Given the description of an element on the screen output the (x, y) to click on. 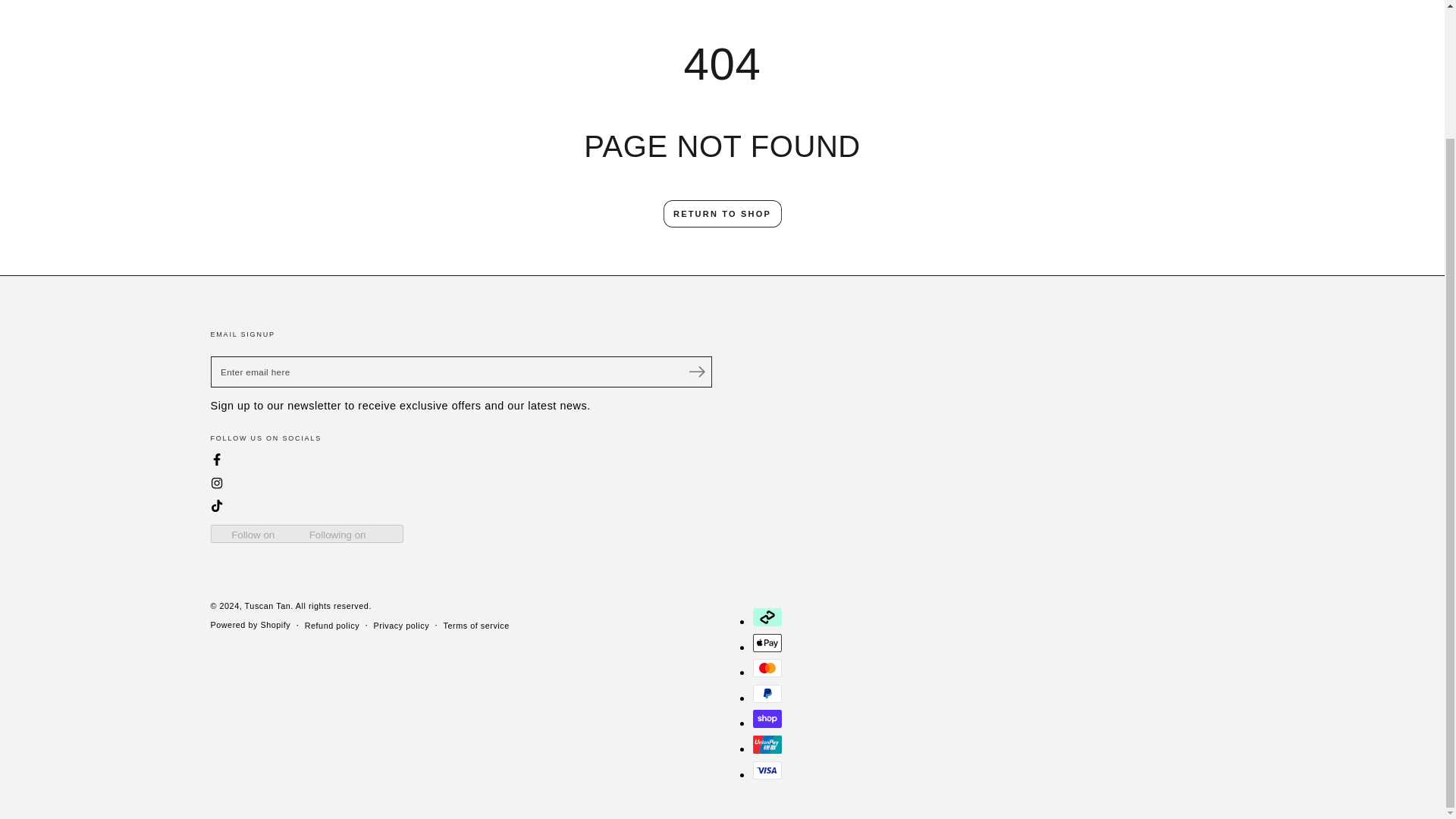
Shop Pay (766, 719)
Union Pay (766, 744)
Apple Pay (766, 642)
TikTok (220, 505)
RETURN TO SHOP (721, 213)
Visa (766, 770)
Afterpay (766, 617)
Facebook (220, 459)
Instagram (220, 482)
PayPal (766, 693)
